Given the description of an element on the screen output the (x, y) to click on. 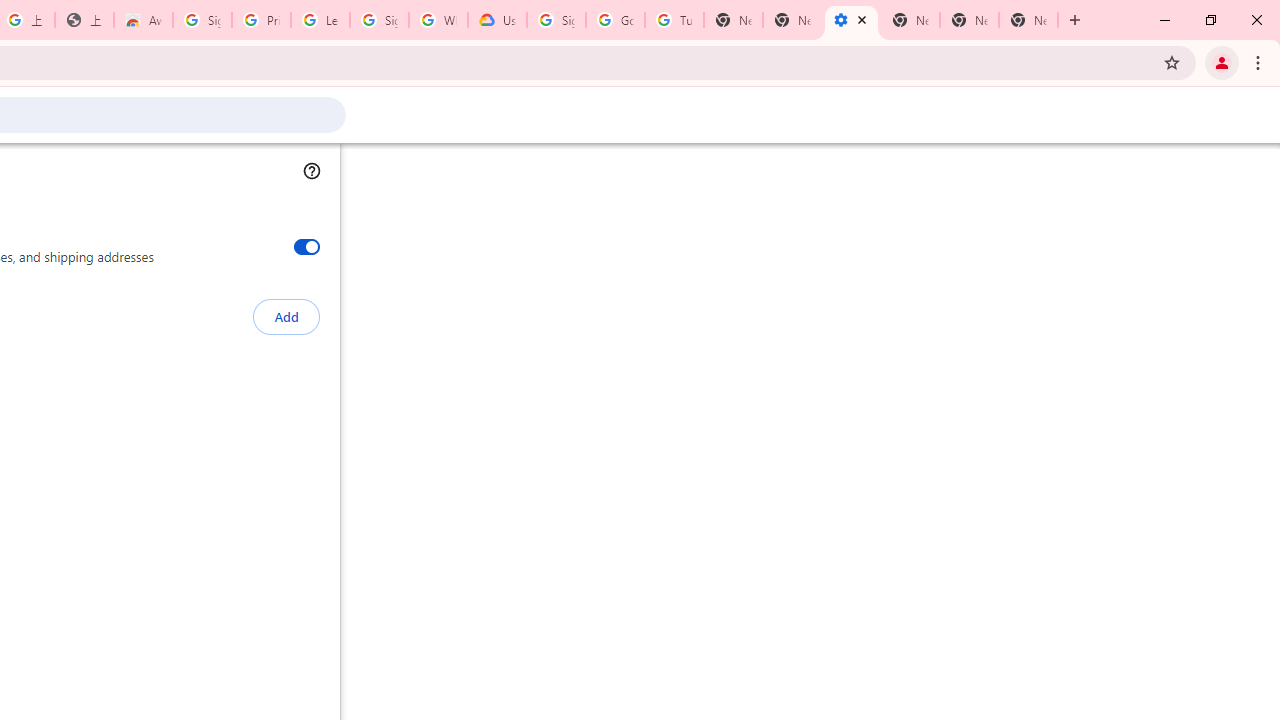
Who are Google's partners? - Privacy and conditions - Google (438, 20)
New Tab (909, 20)
Sign in - Google Accounts (201, 20)
New Tab (1028, 20)
